Given the description of an element on the screen output the (x, y) to click on. 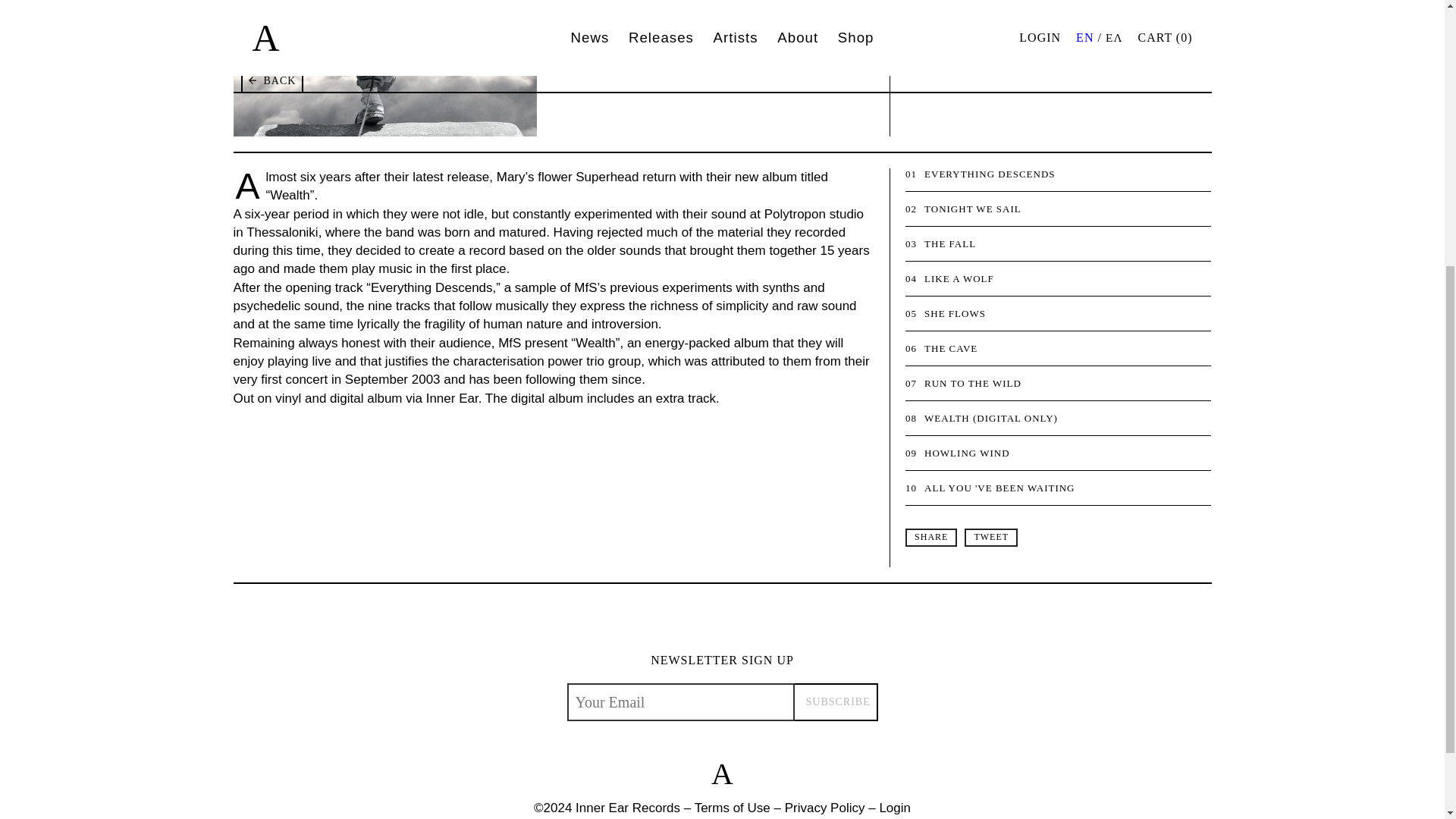
TWEET (990, 537)
Subscribe (835, 702)
Login (895, 807)
Subscribe (835, 702)
SHARE (930, 537)
